Given the description of an element on the screen output the (x, y) to click on. 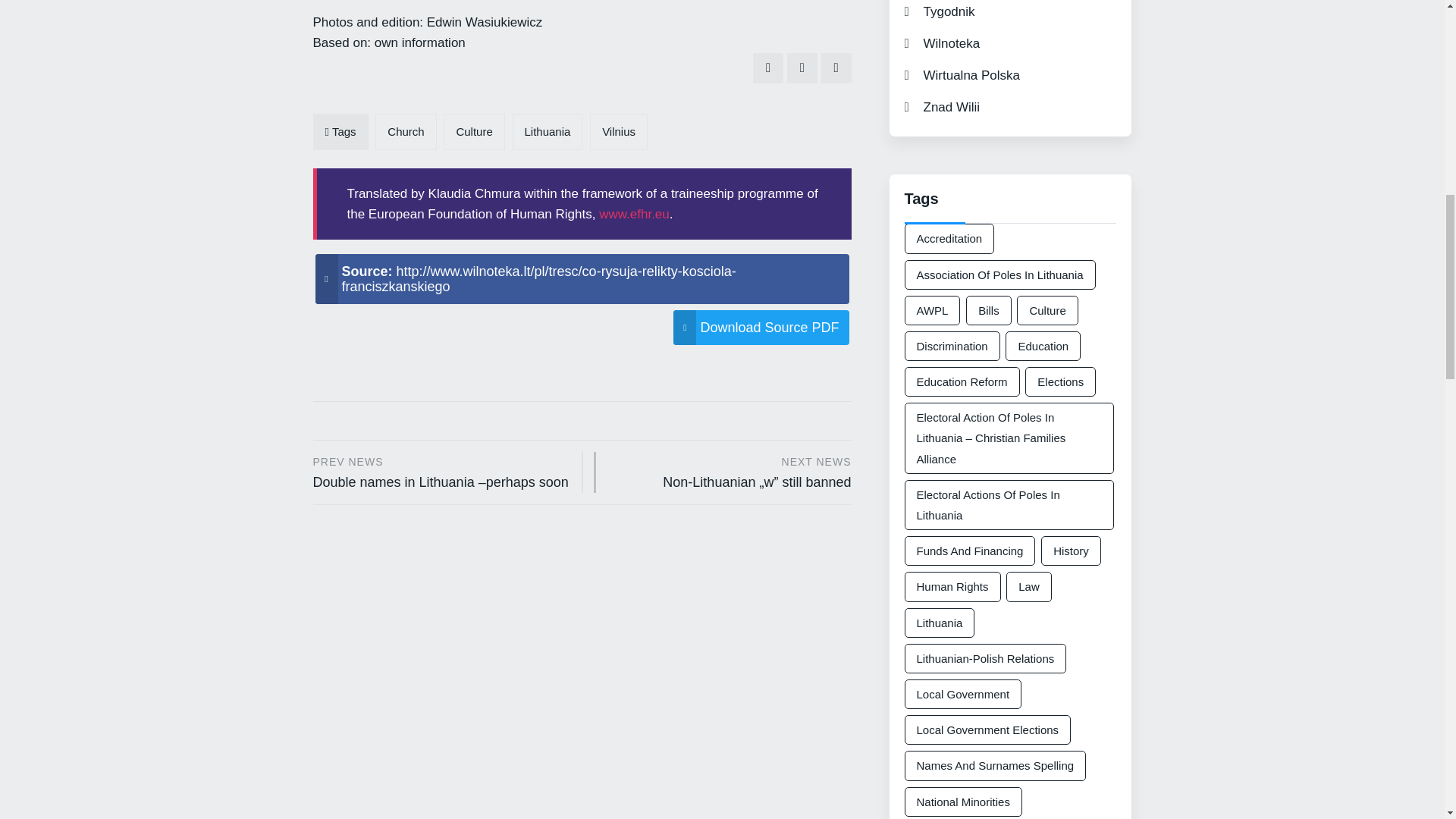
Vilnius (618, 131)
Culture (473, 131)
www.efhr.eu (633, 214)
Church (405, 131)
Lithuania (547, 131)
Download Source PDF (760, 327)
